Given the description of an element on the screen output the (x, y) to click on. 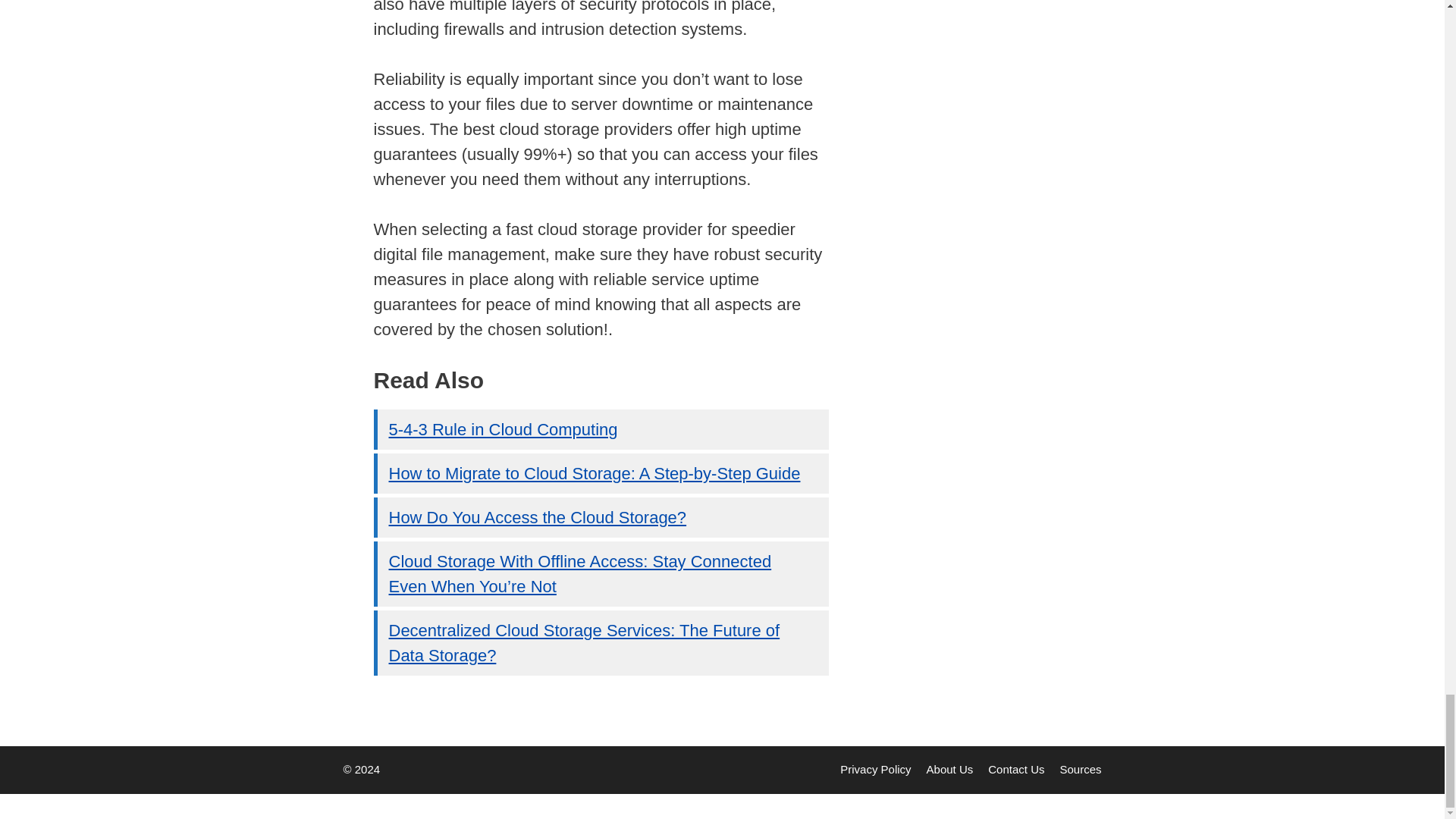
About Us (950, 768)
How Do You Access the Cloud Storage? (536, 517)
How to Migrate to Cloud Storage: A Step-by-Step Guide (593, 473)
How to Migrate to Cloud Storage: A Step-by-Step Guide (593, 473)
5-4-3 Rule in Cloud Computing (502, 429)
Contact Us (1015, 768)
How Do You Access the Cloud Storage? (536, 517)
Sources (1079, 768)
5-4-3 Rule in Cloud Computing (502, 429)
Privacy Policy (875, 768)
